Given the description of an element on the screen output the (x, y) to click on. 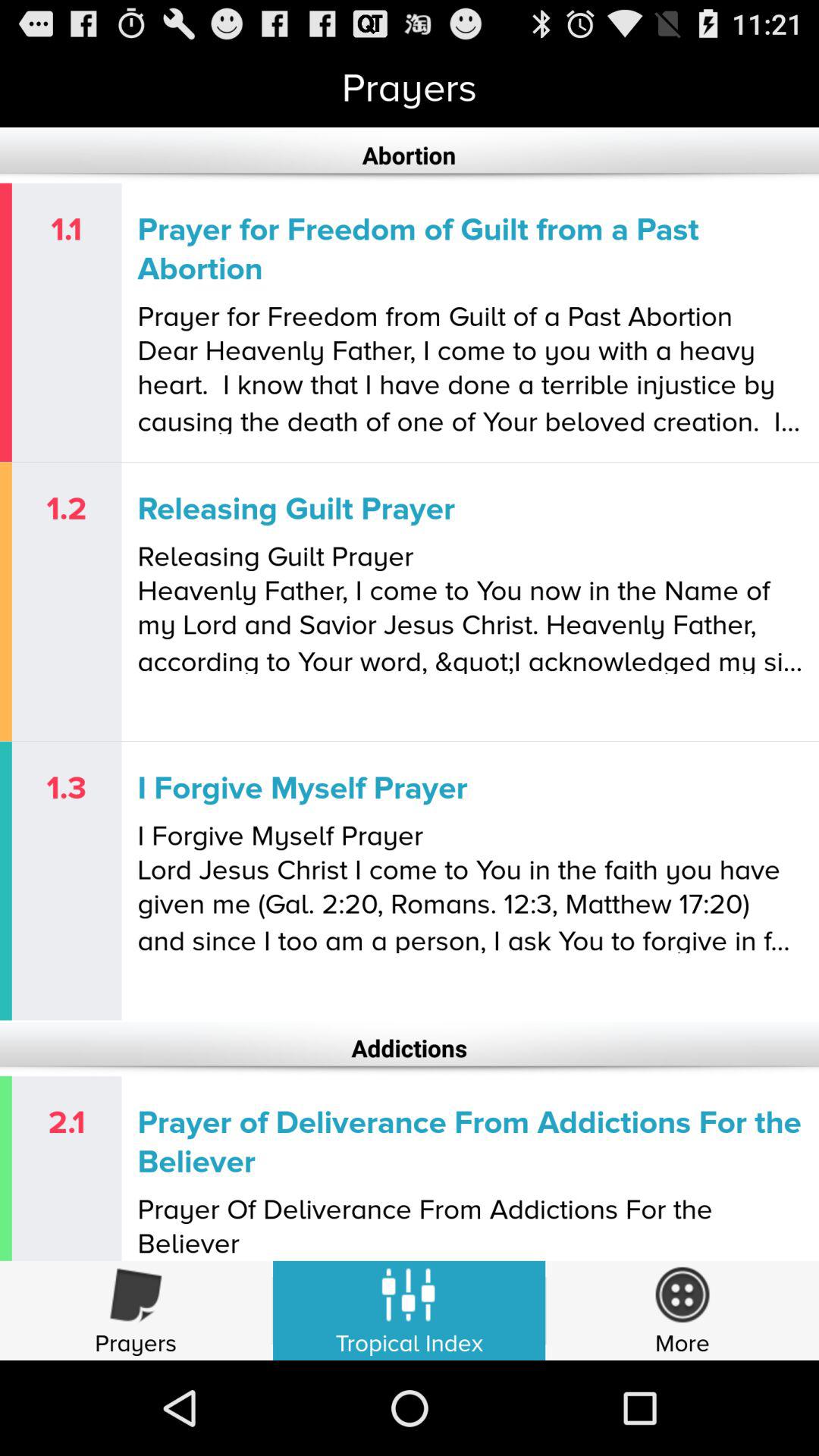
select the symbol which is immediately above tropical index (409, 1302)
more (682, 1309)
